Given the description of an element on the screen output the (x, y) to click on. 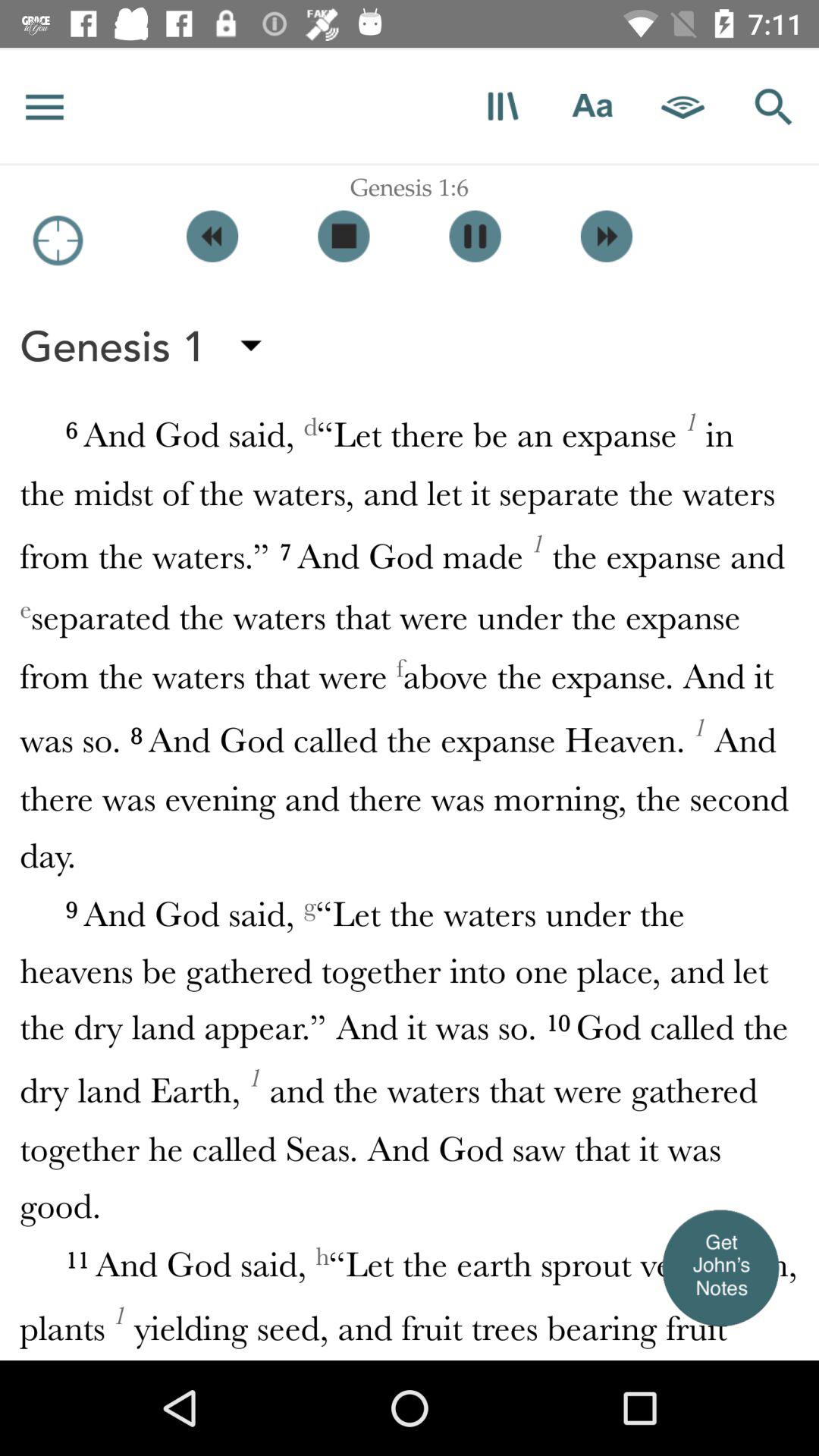
pause (475, 236)
